Given the description of an element on the screen output the (x, y) to click on. 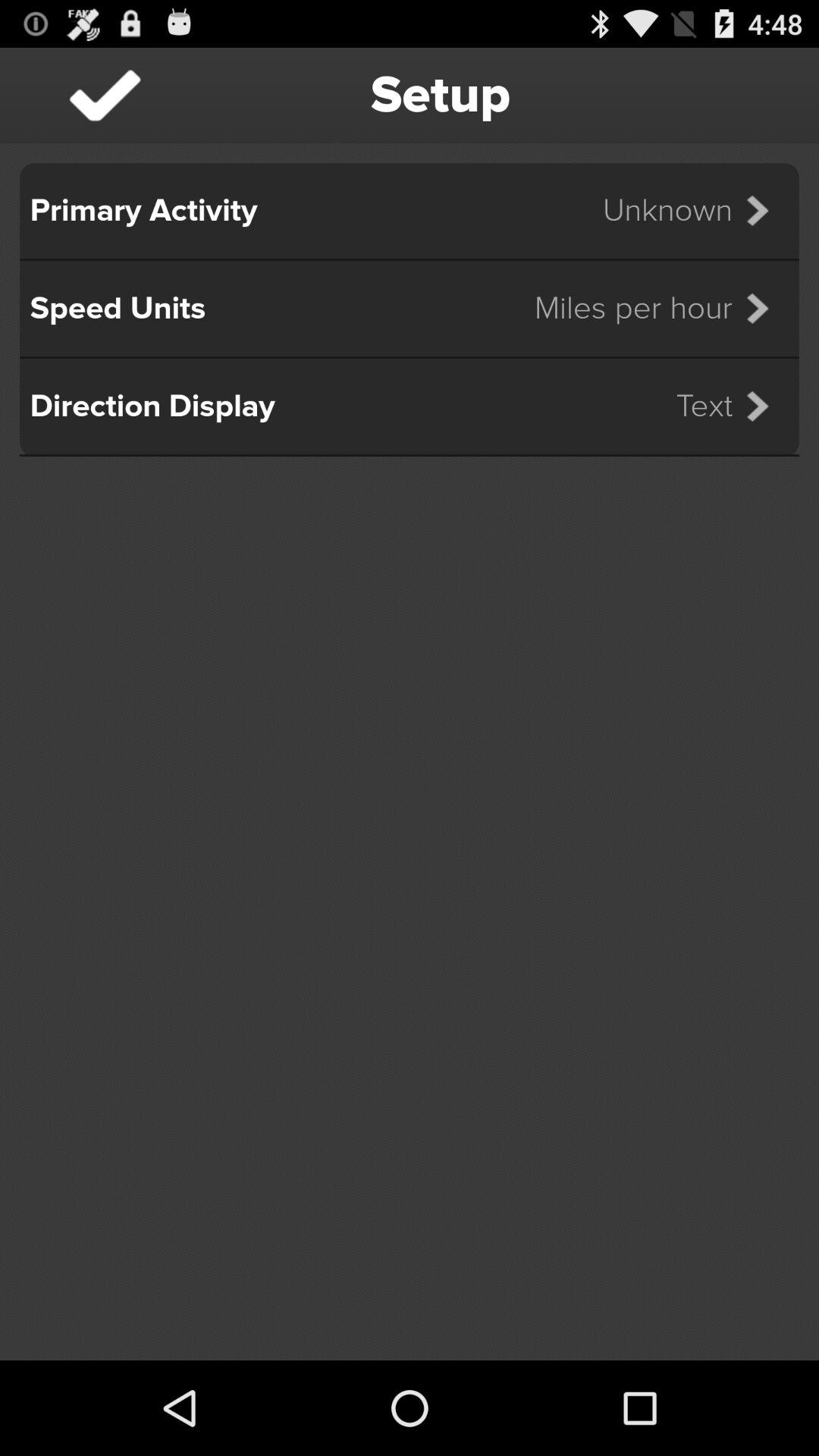
turn on the item next to the setup item (104, 95)
